Given the description of an element on the screen output the (x, y) to click on. 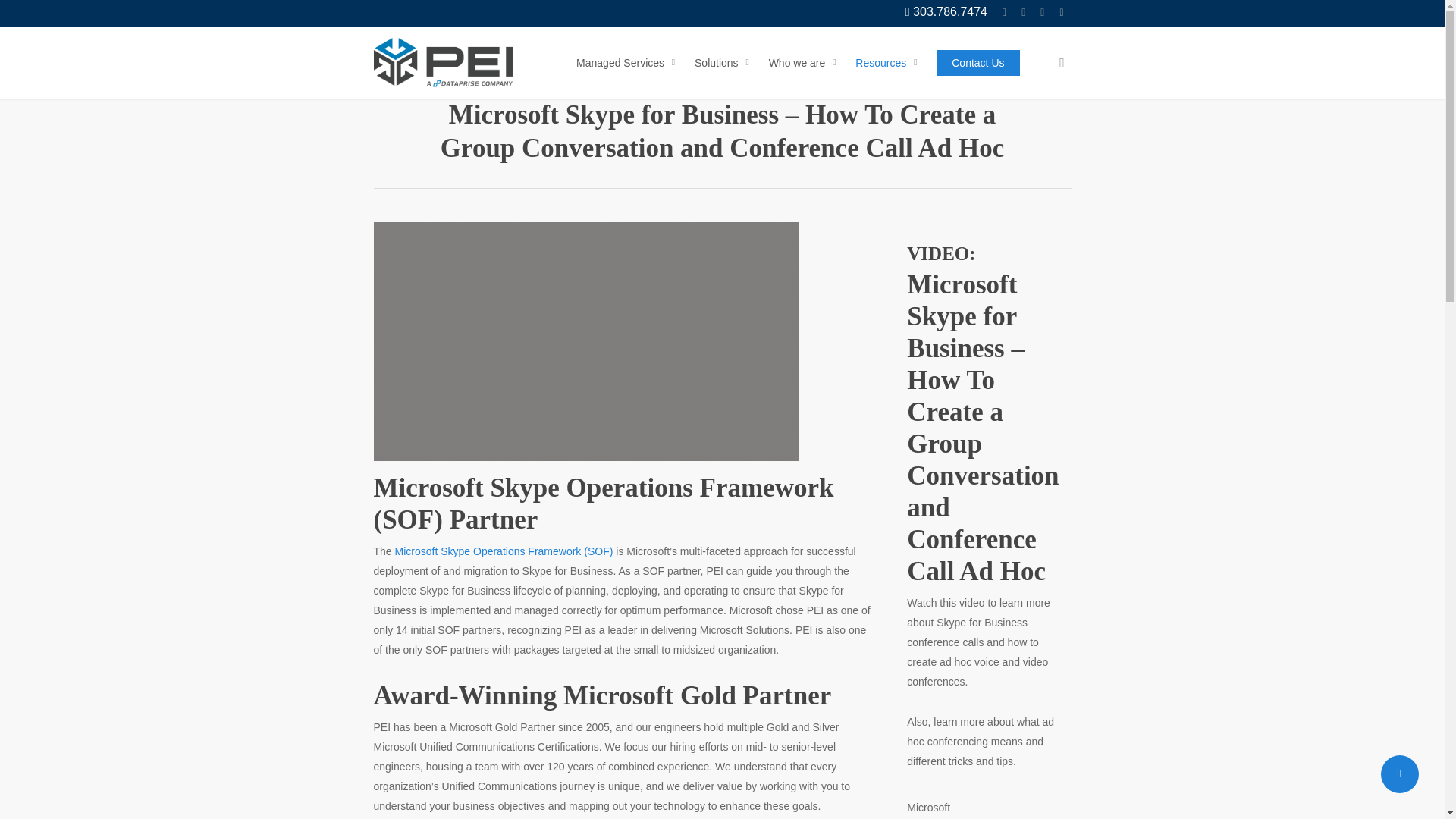
Who we are (804, 61)
Managed Services (628, 61)
303.786.7474 (946, 12)
Solutions (724, 61)
